Given the description of an element on the screen output the (x, y) to click on. 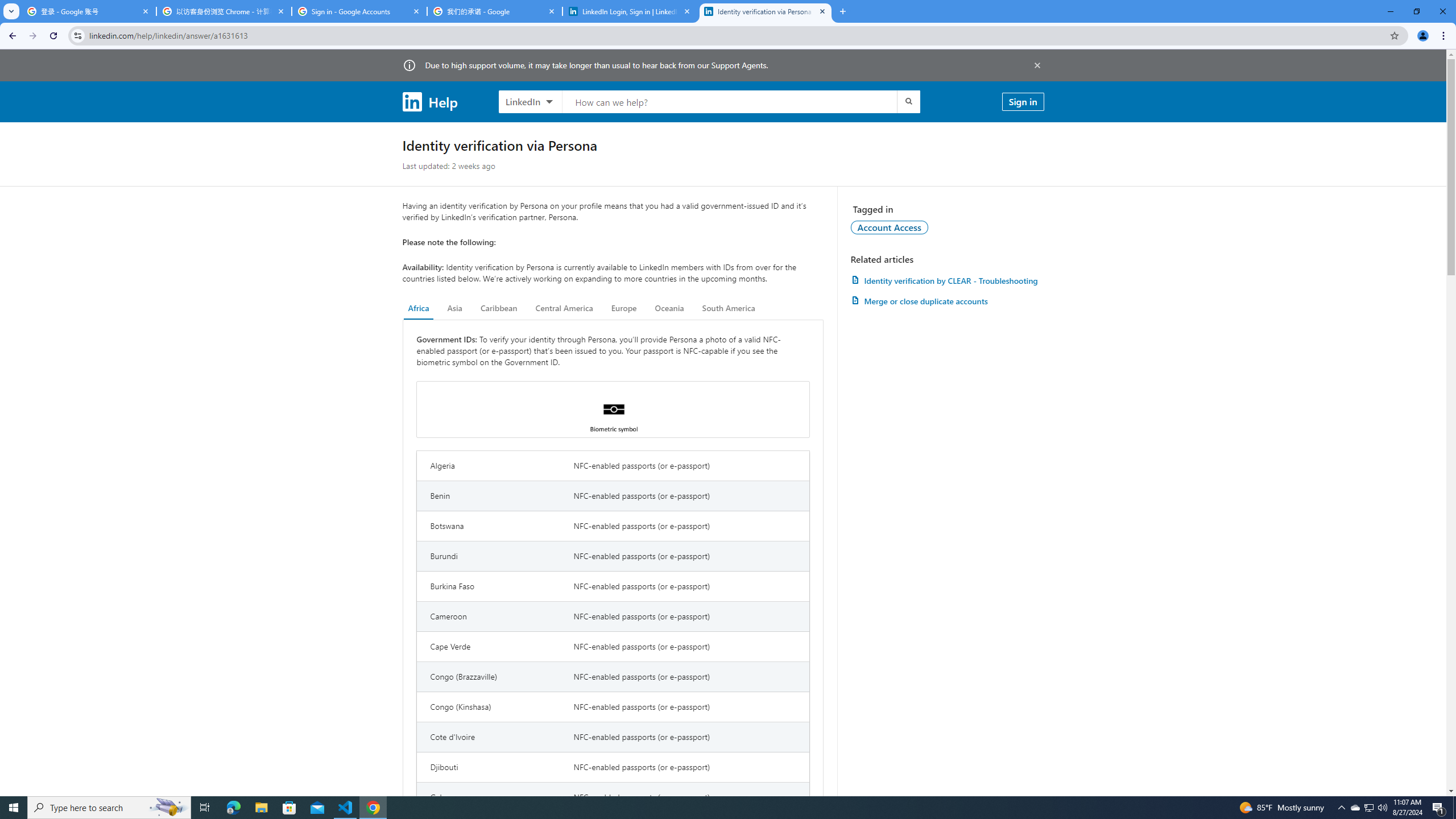
Caribbean (499, 308)
Identity verification via Persona | LinkedIn Help (765, 11)
LinkedIn Login, Sign in | LinkedIn (630, 11)
AutomationID: topic-link-a151002 (889, 227)
Africa (418, 308)
Oceania (668, 308)
Help (429, 101)
